Given the description of an element on the screen output the (x, y) to click on. 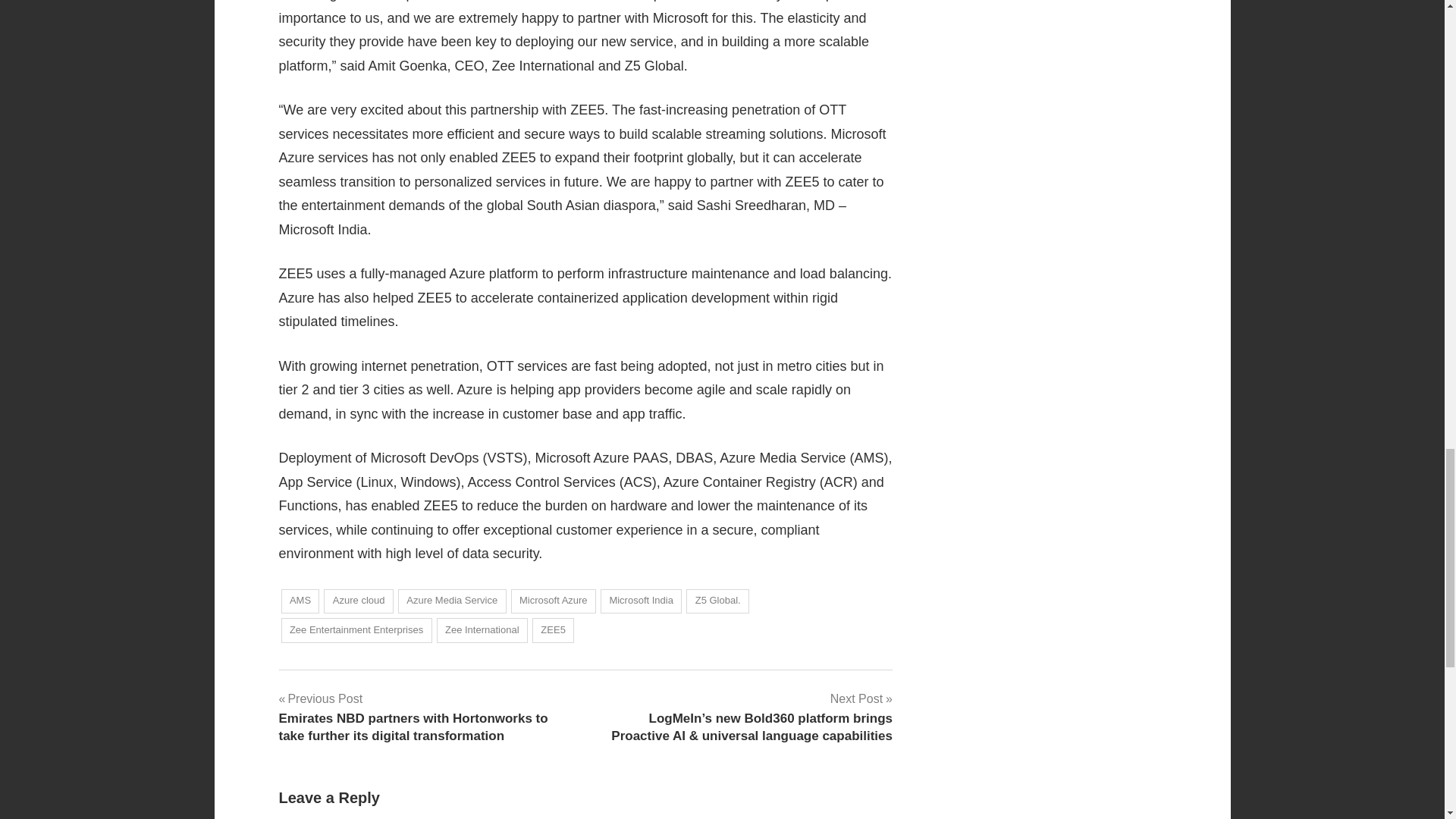
Z5 Global. (717, 601)
Azure Media Service (451, 601)
ZEE5 (552, 630)
Microsoft Azure (553, 601)
Zee Entertainment Enterprises (355, 630)
Azure cloud (358, 601)
Microsoft India (640, 601)
AMS (299, 601)
Zee International (481, 630)
